Given the description of an element on the screen output the (x, y) to click on. 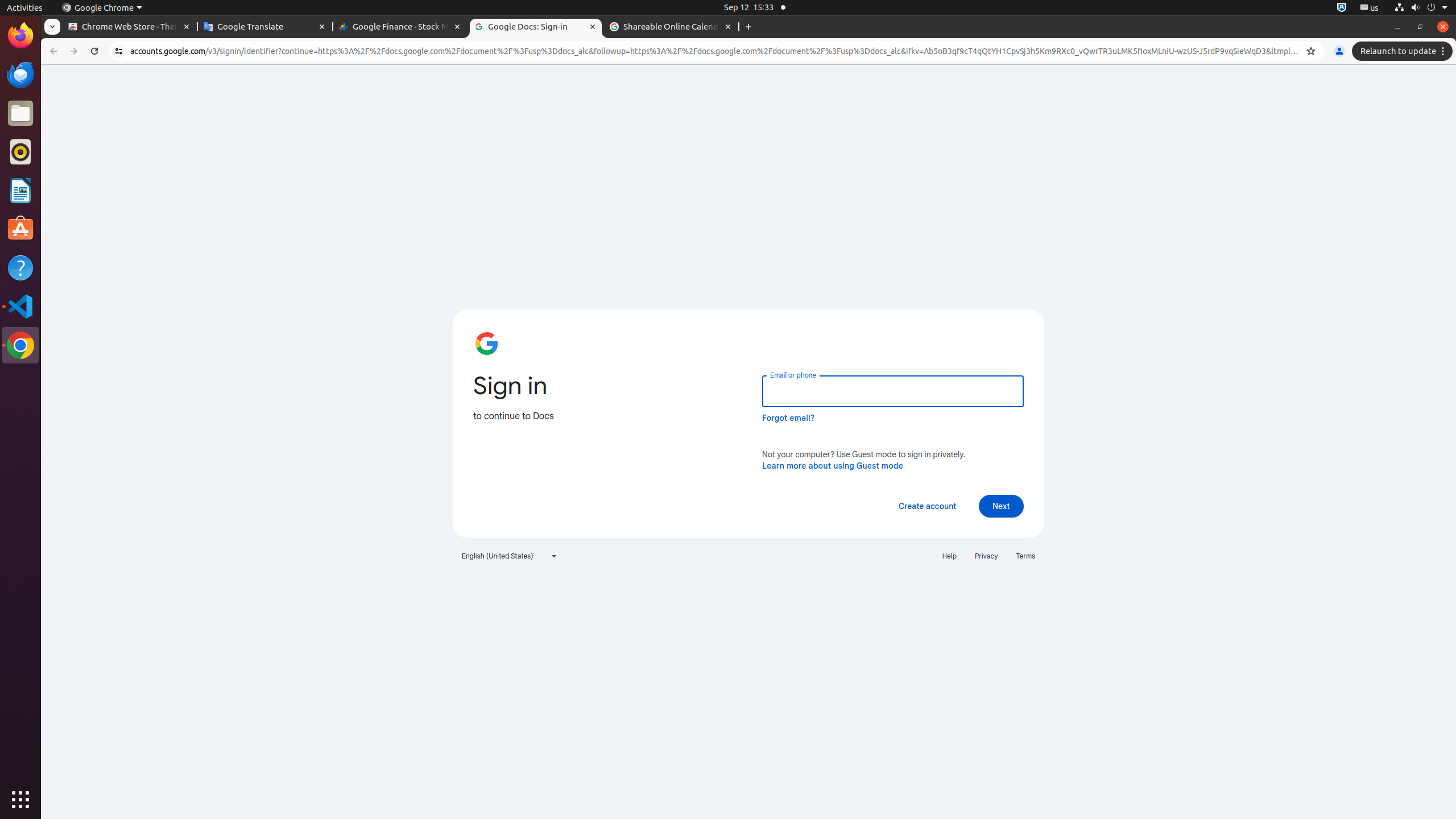
You Element type: push-button (1339, 50)
Create account Element type: push-button (926, 505)
Learn more about using Guest mode Element type: link (832, 465)
Forward Element type: push-button (73, 50)
Relaunch to update Element type: push-button (1403, 50)
